Given the description of an element on the screen output the (x, y) to click on. 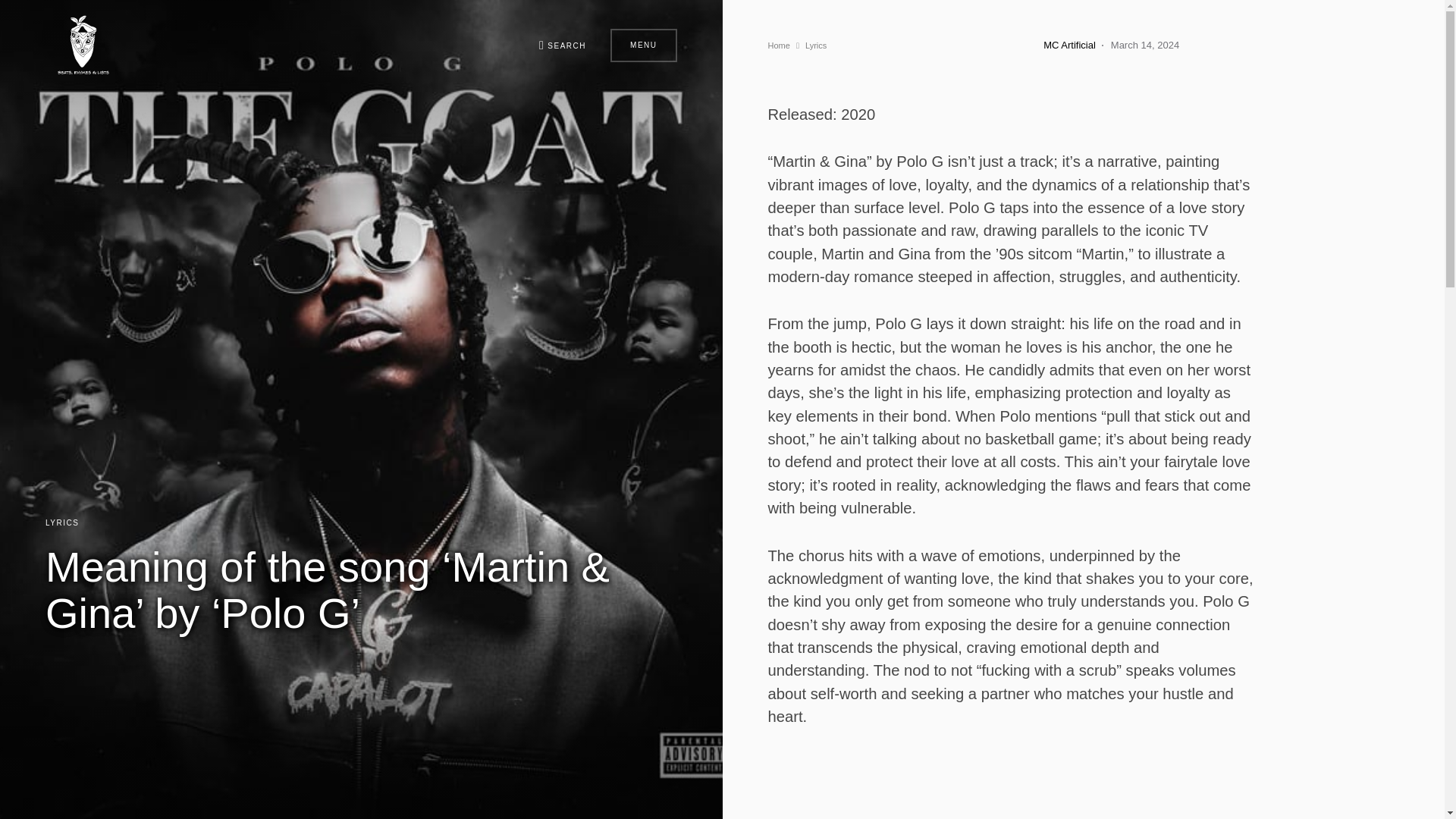
Lyrics (816, 44)
LYRICS (61, 522)
View all posts by MC Artificial (1069, 45)
MC Artificial (1069, 45)
Home (778, 44)
